Given the description of an element on the screen output the (x, y) to click on. 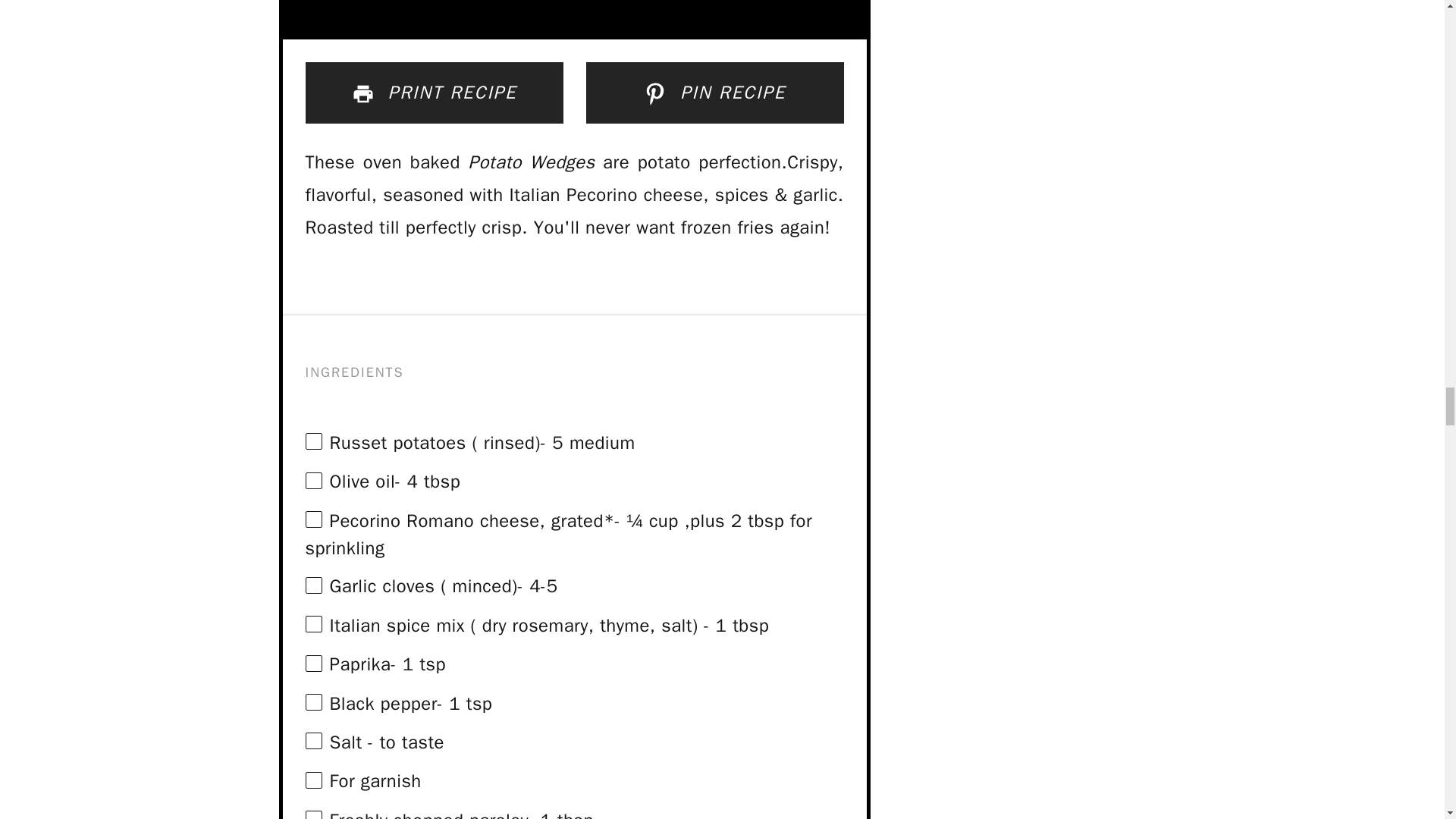
PRINT RECIPE (433, 92)
PIN RECIPE (714, 92)
